Given the description of an element on the screen output the (x, y) to click on. 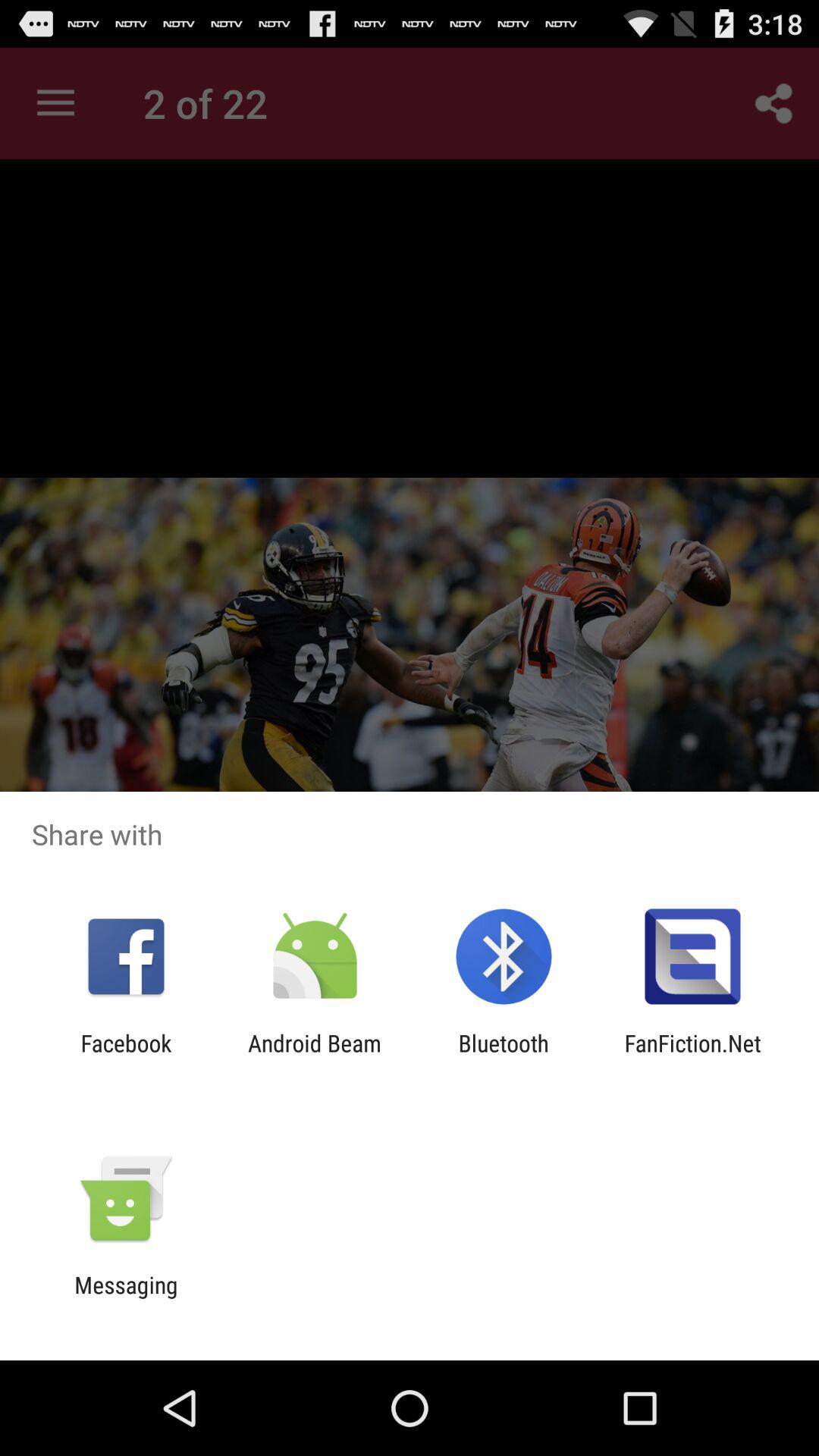
press the item to the left of the bluetooth icon (314, 1056)
